Given the description of an element on the screen output the (x, y) to click on. 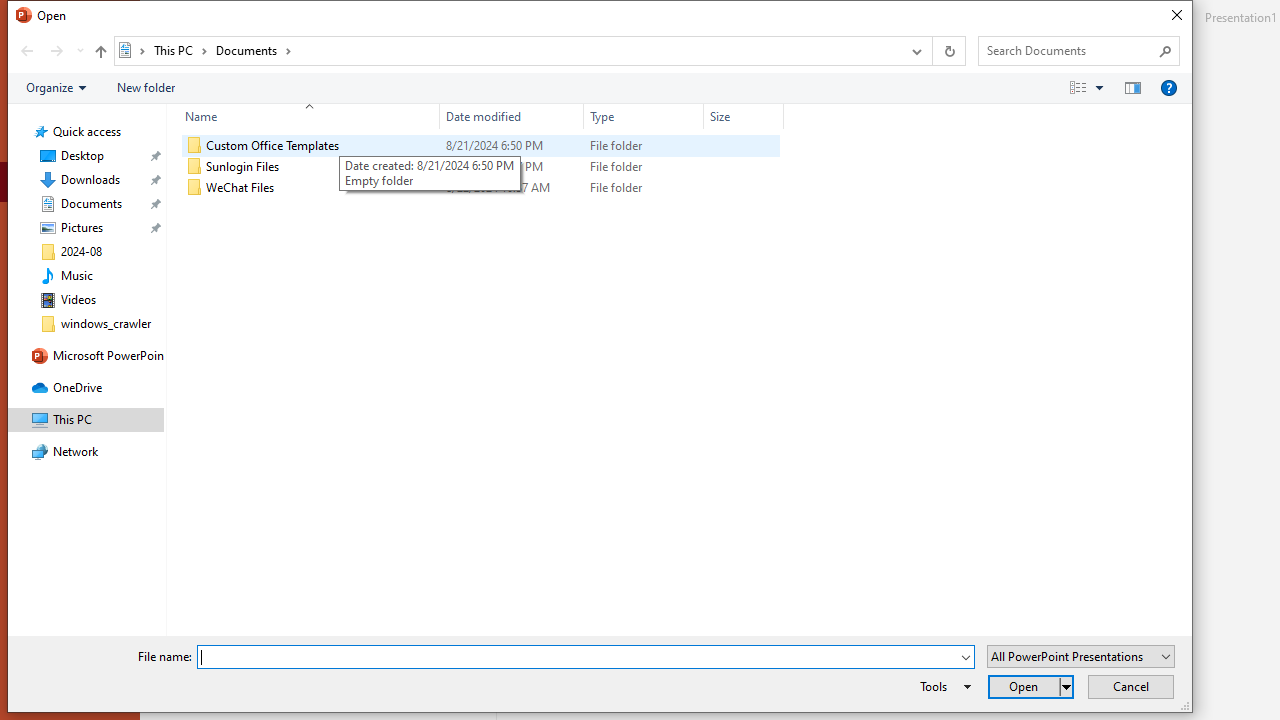
Type (643, 115)
Search Box (1069, 50)
All locations (132, 50)
